Given the description of an element on the screen output the (x, y) to click on. 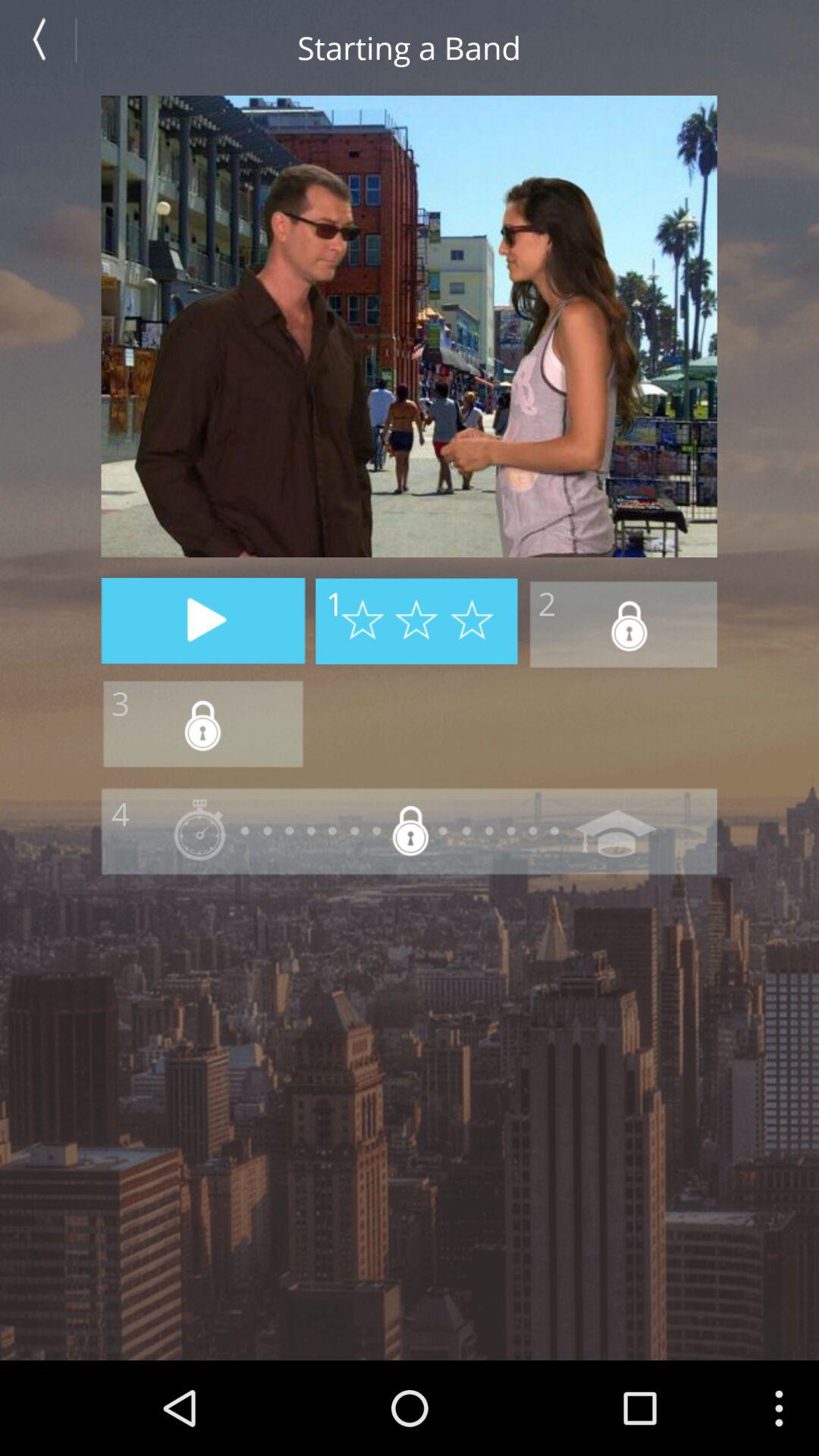
go to previous (47, 47)
